Given the description of an element on the screen output the (x, y) to click on. 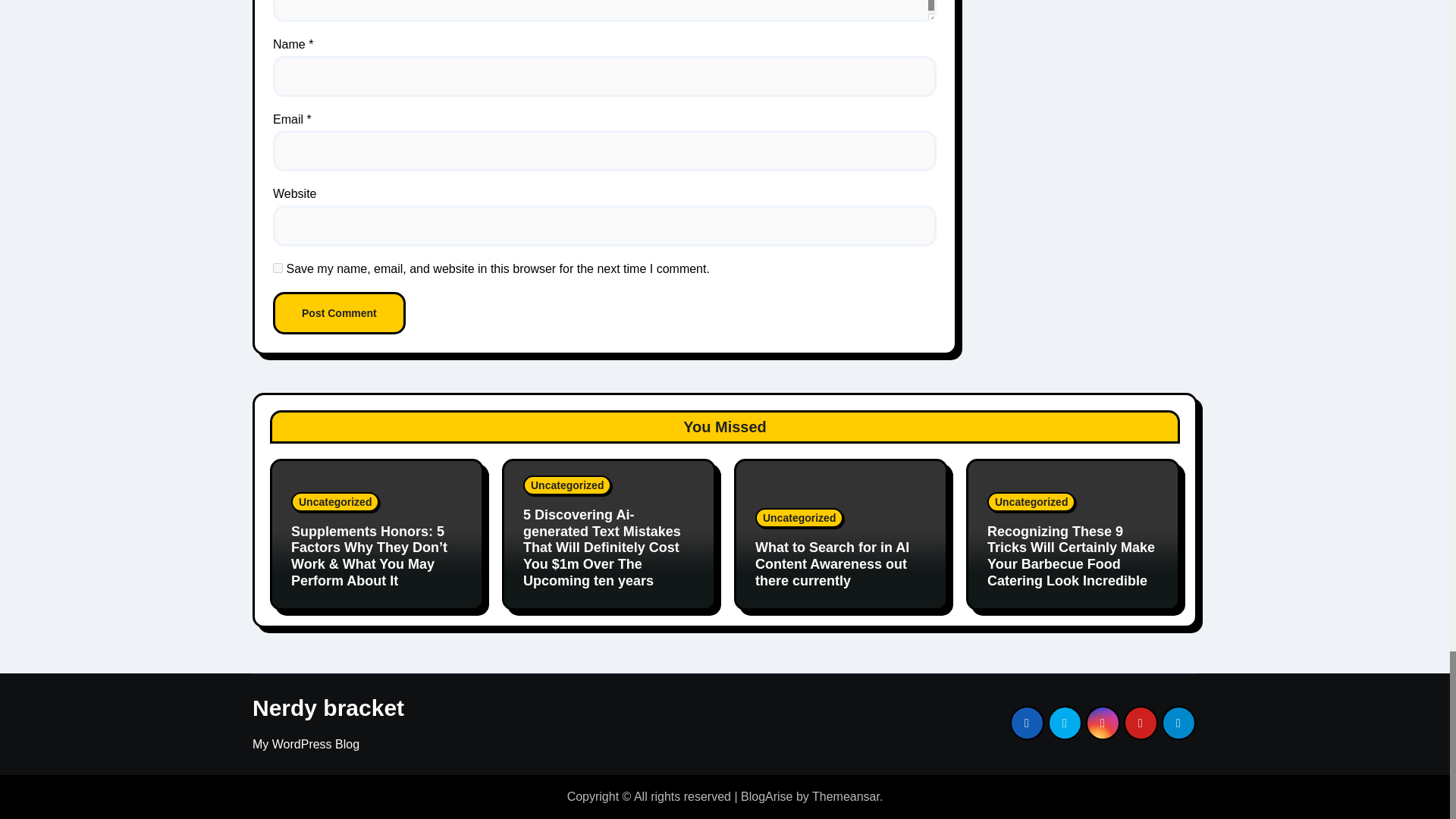
Post Comment (339, 312)
yes (277, 267)
